Given the description of an element on the screen output the (x, y) to click on. 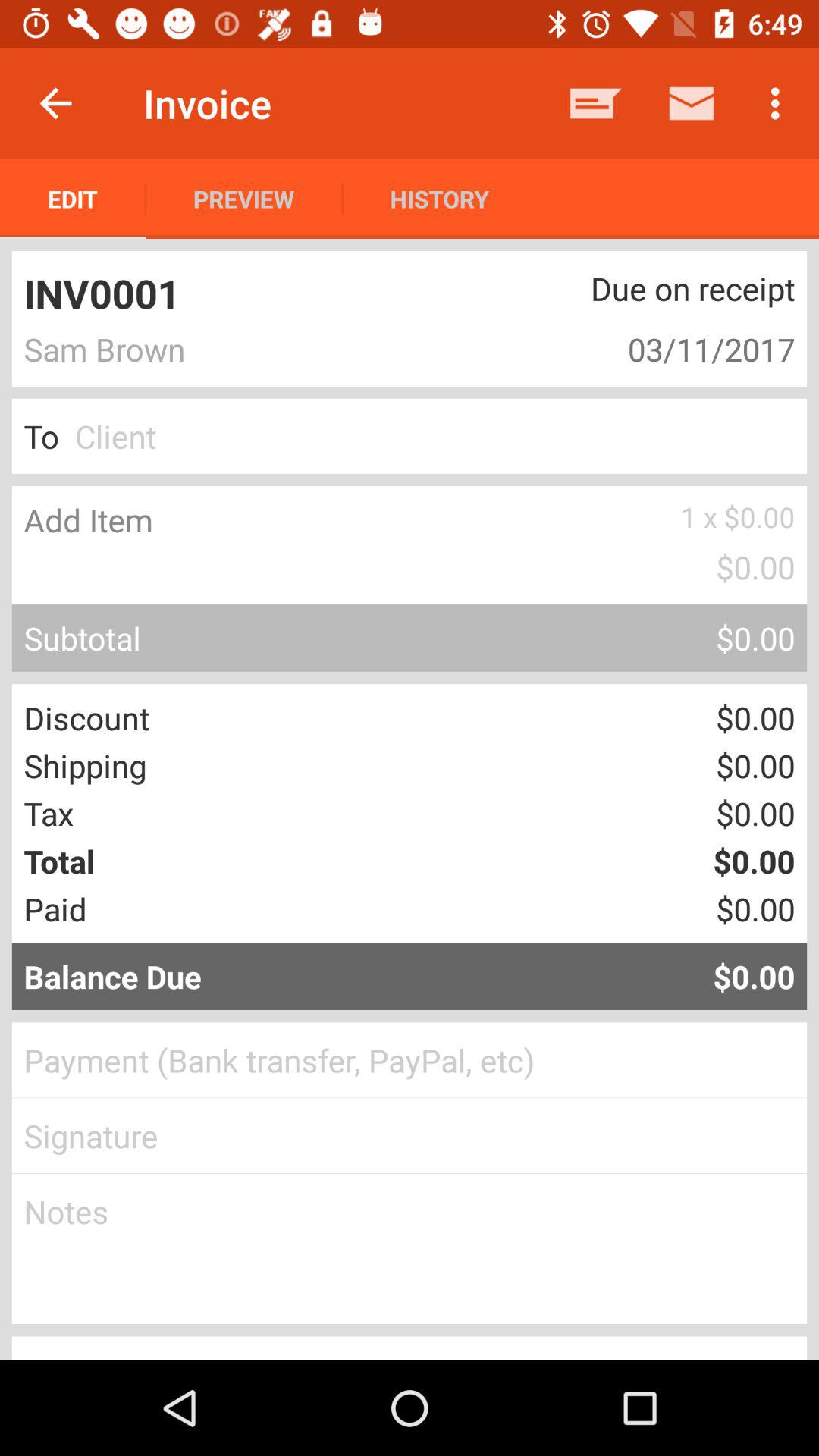
make notes (409, 1248)
